Given the description of an element on the screen output the (x, y) to click on. 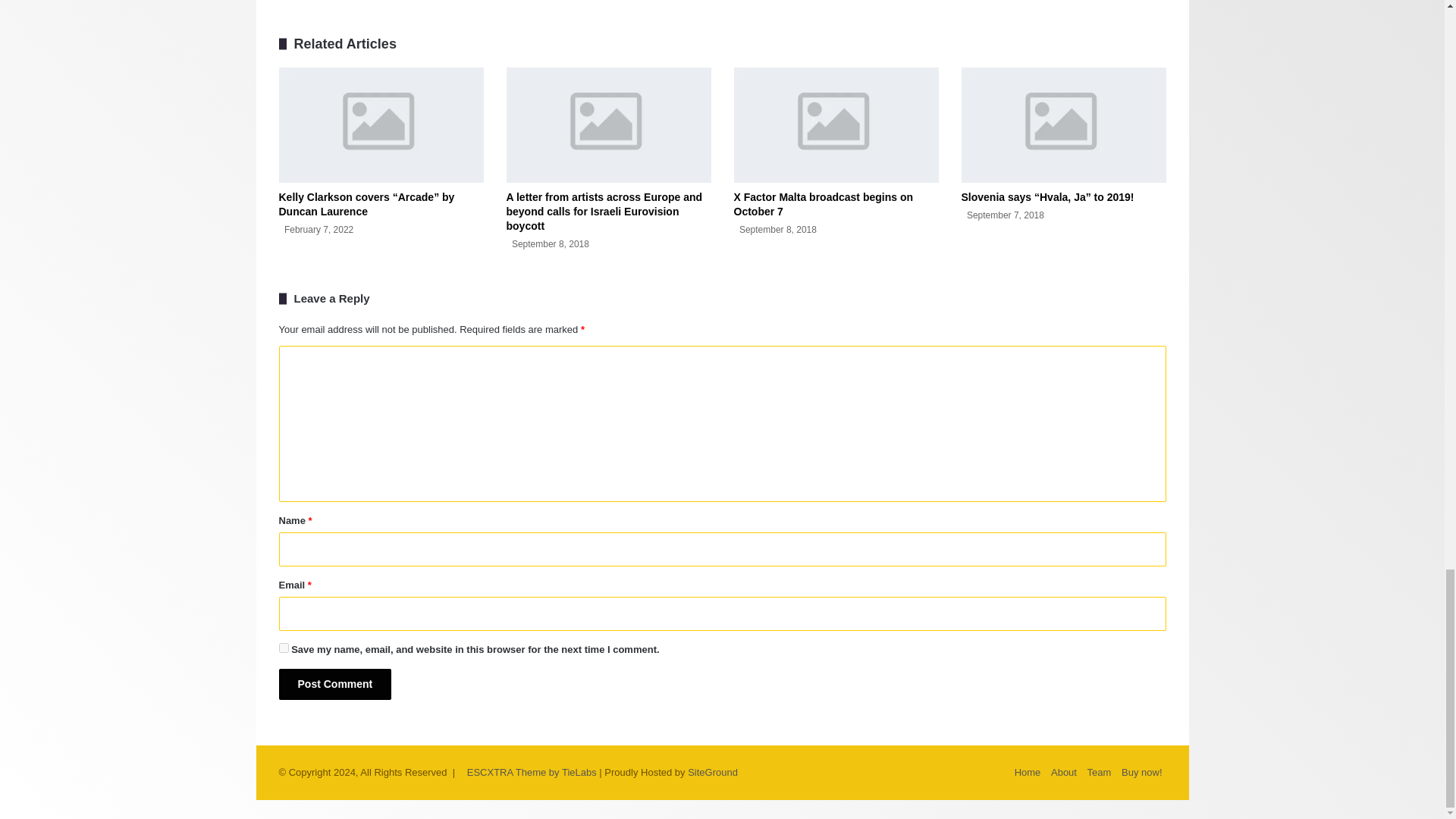
Post Comment (335, 684)
yes (283, 647)
